Given the description of an element on the screen output the (x, y) to click on. 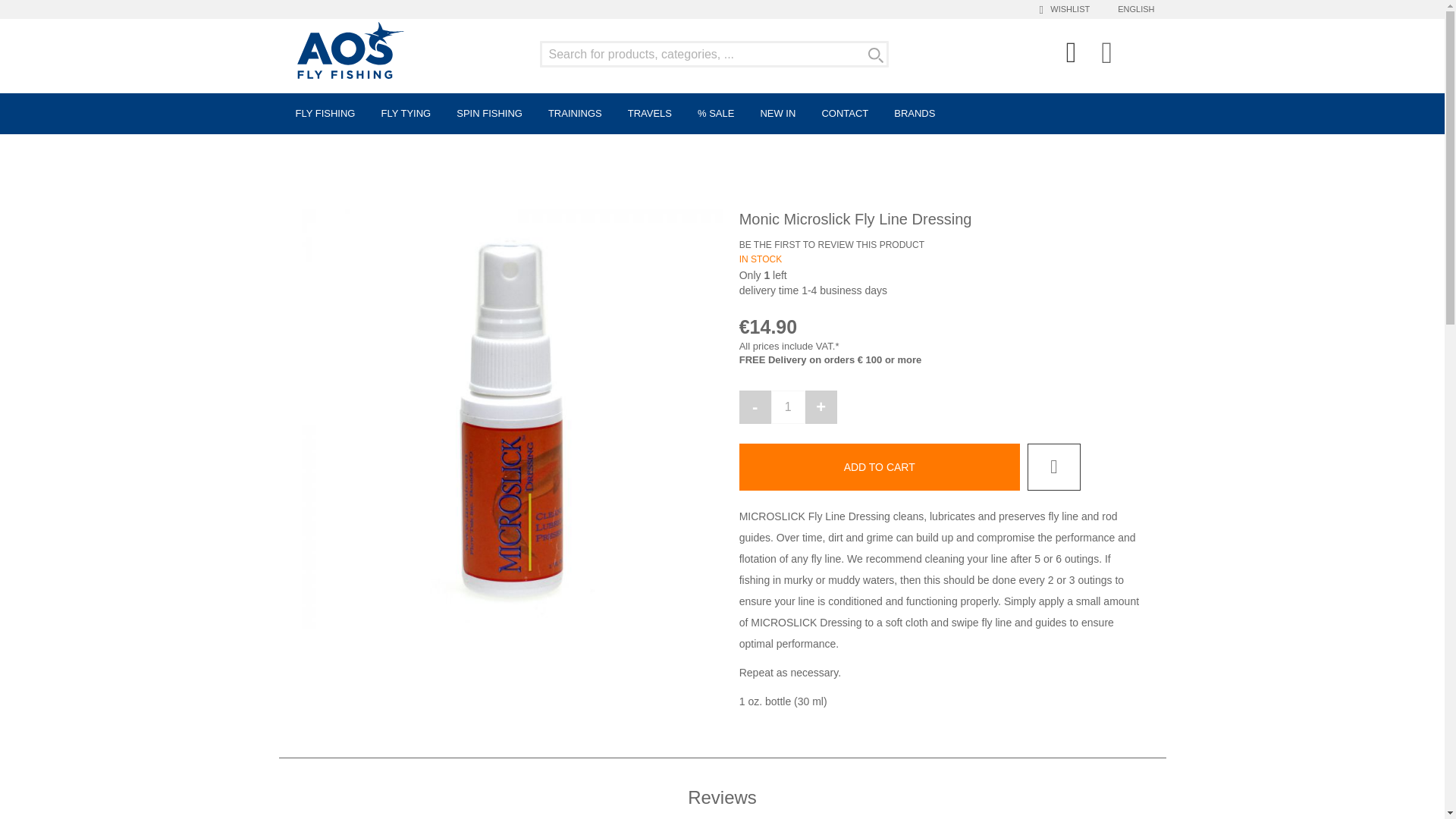
Qty (788, 407)
Header Links (1071, 55)
Wishlist (1067, 8)
WISHLIST (1067, 8)
Only 1 left (940, 275)
1 (788, 407)
FLY FISHING (325, 113)
Add to Cart (879, 466)
Availability (760, 259)
